Given the description of an element on the screen output the (x, y) to click on. 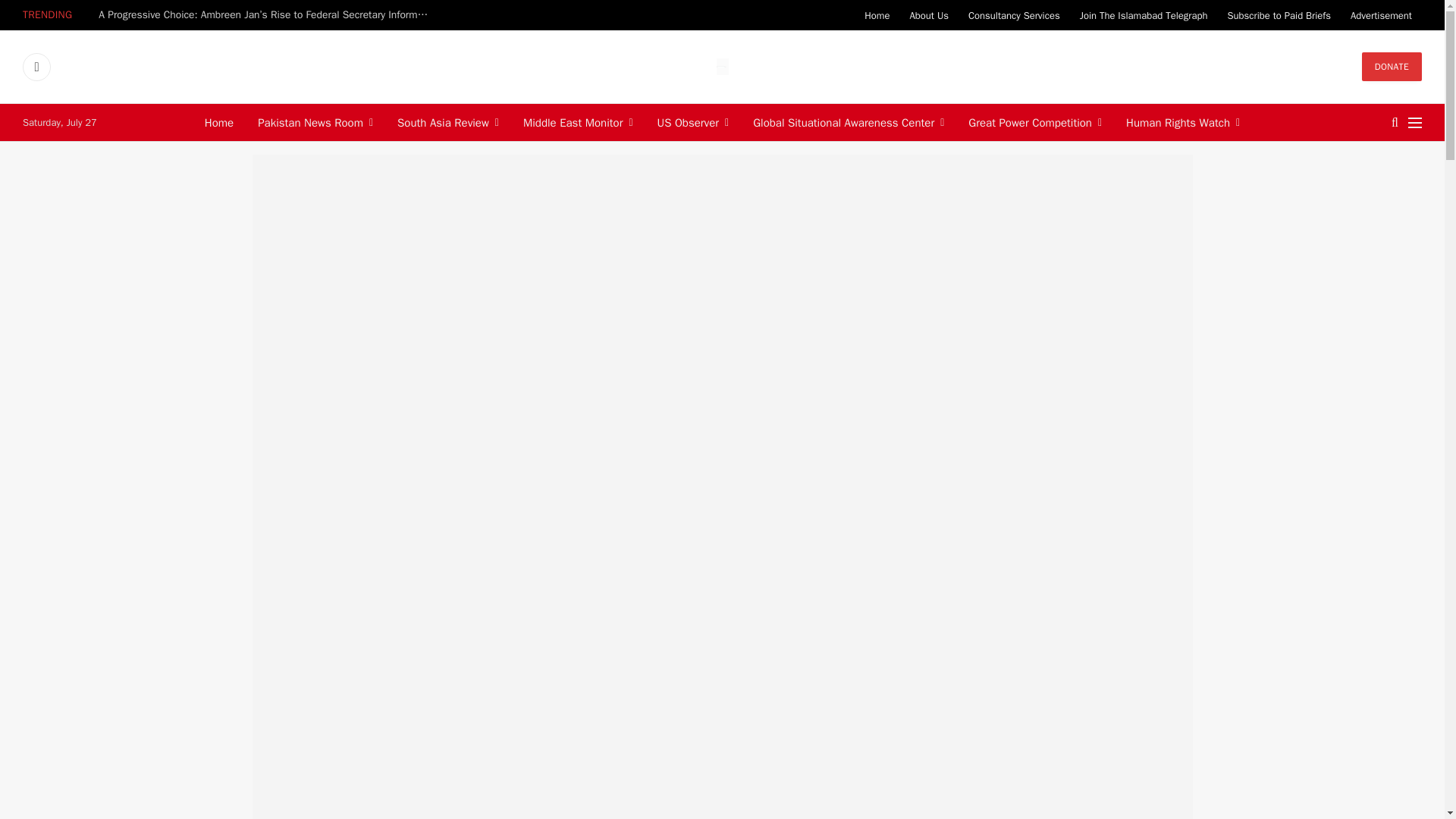
Pakistan News Room (315, 122)
DONATE (1391, 66)
Home (876, 15)
Consultancy Services (1014, 15)
Home (219, 122)
Advertisement (1381, 15)
About Us (928, 15)
Join The Islamabad Telegraph (1143, 15)
Subscribe to Paid Briefs (1278, 15)
